Given the description of an element on the screen output the (x, y) to click on. 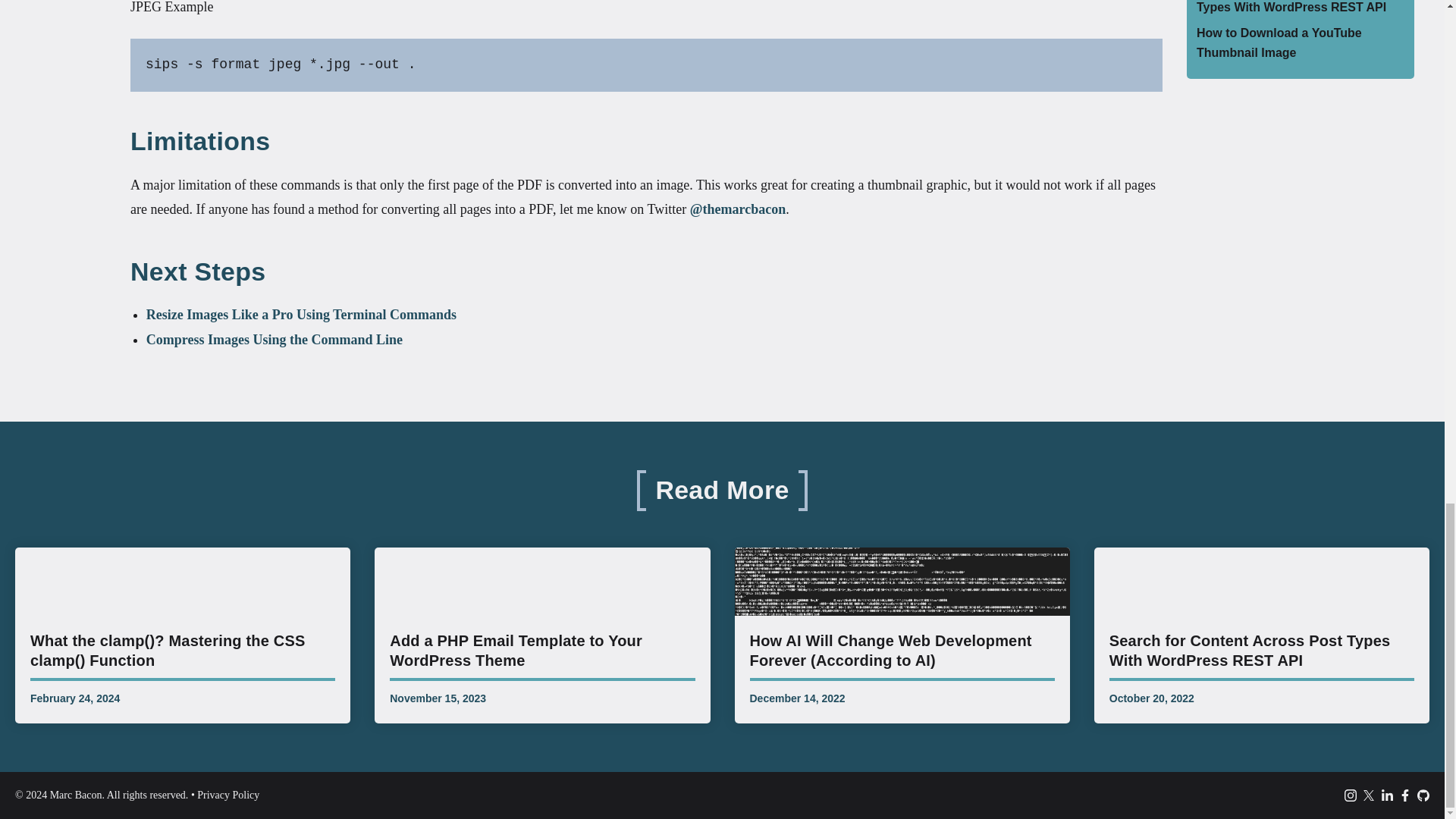
Resize Images Like a Pro Using Terminal Commands (302, 314)
Compress Images Using the Command Line (275, 339)
Search for Content Across Post Types With WordPress REST API (1291, 7)
Privacy Policy (227, 794)
How to Download a YouTube Thumbnail Image (1278, 42)
